Given the description of an element on the screen output the (x, y) to click on. 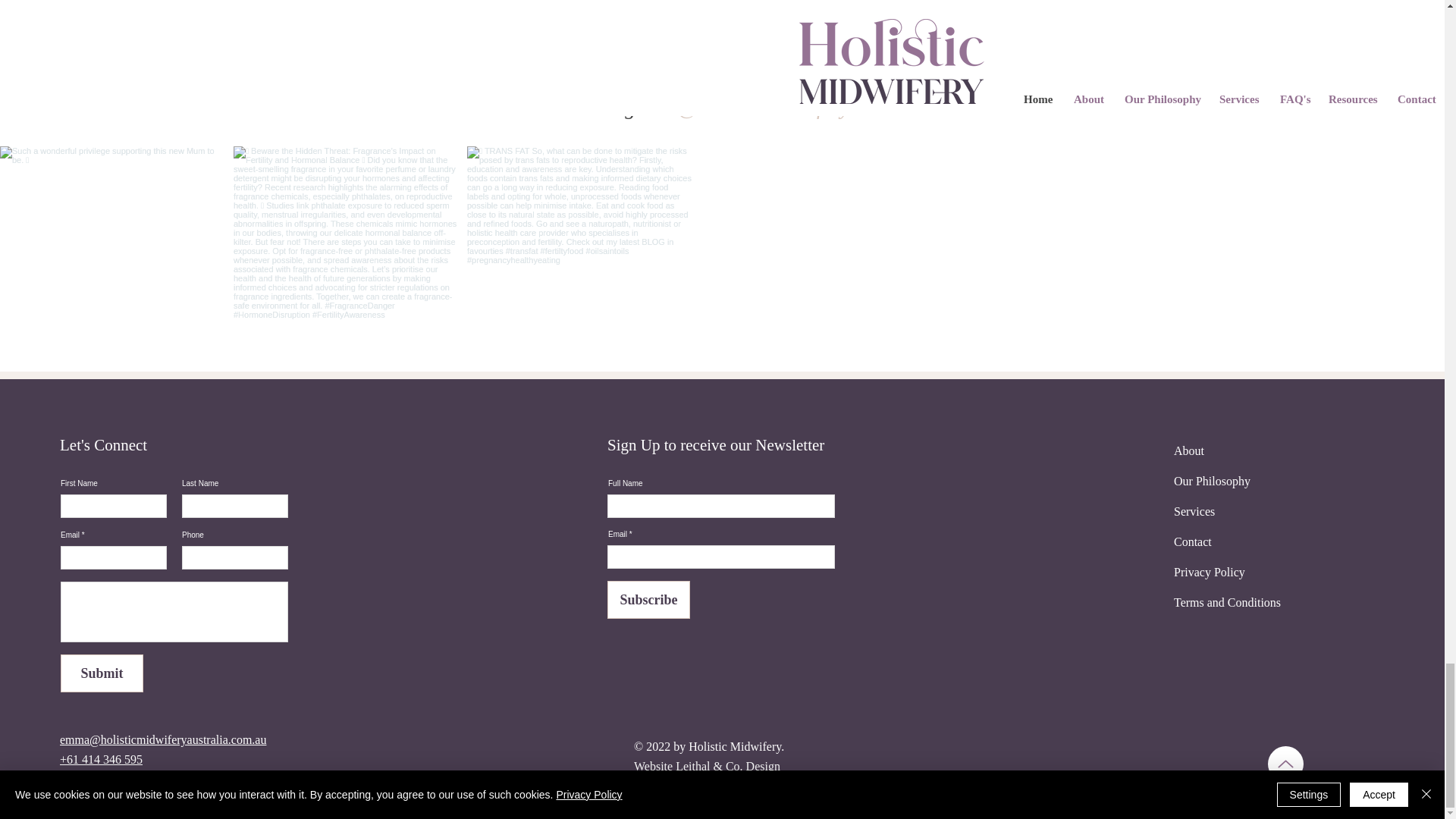
Services (1193, 511)
Submit (101, 673)
Our Philosophy (1211, 481)
Subscribe (648, 599)
About (1188, 450)
Privacy Policy (1208, 571)
Terms and Conditions (1227, 602)
Contact (1192, 541)
